Given the description of an element on the screen output the (x, y) to click on. 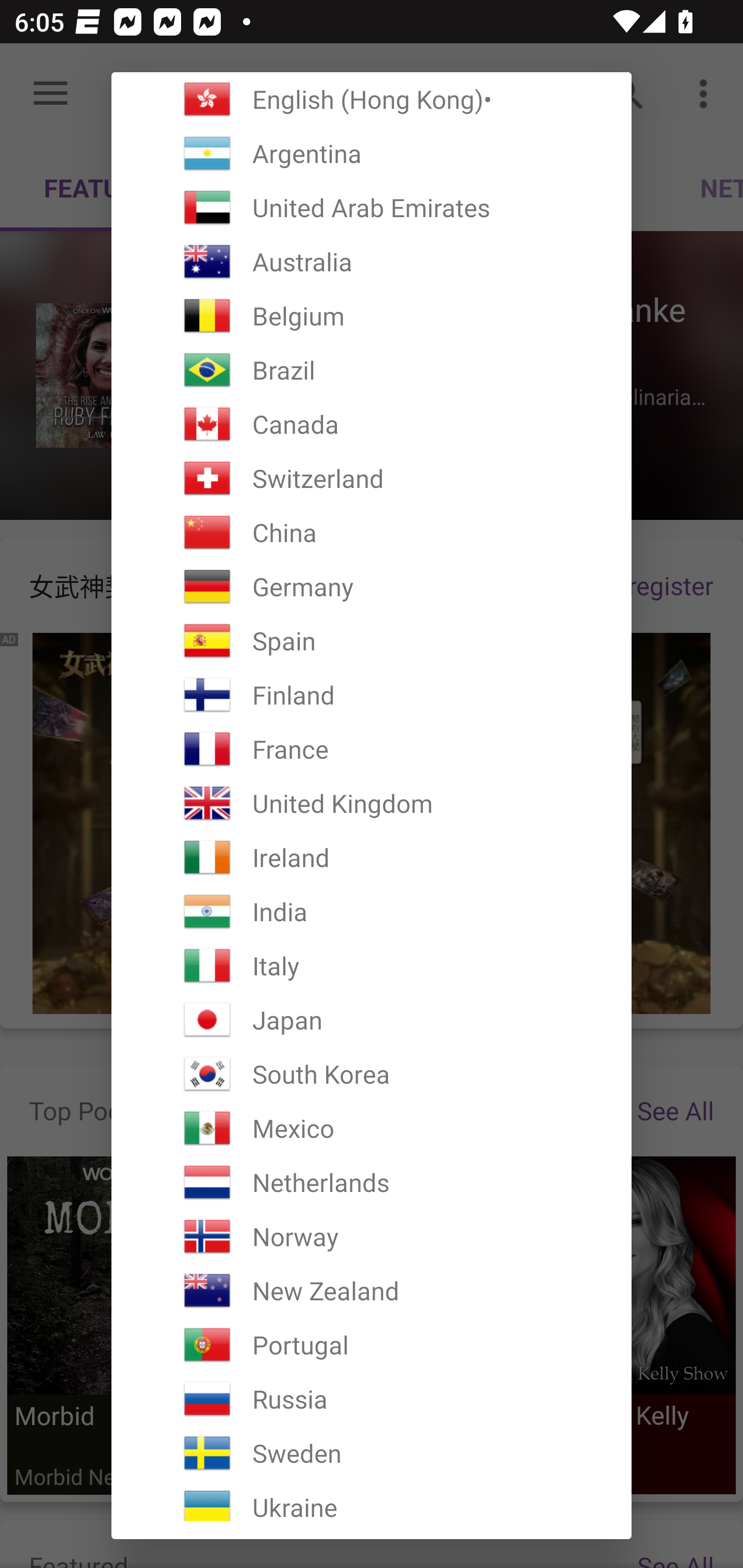
English (Hong Kong)• (371, 99)
Argentina (371, 153)
United Arab Emirates (371, 207)
Australia (371, 261)
Belgium (371, 315)
Brazil (371, 369)
Canada (371, 423)
Switzerland (371, 477)
China (371, 531)
Germany (371, 586)
Spain (371, 640)
Finland (371, 694)
France (371, 749)
United Kingdom (371, 803)
Ireland (371, 857)
India (371, 911)
Italy (371, 965)
Japan (371, 1019)
South Korea (371, 1073)
Mexico (371, 1127)
Netherlands (371, 1181)
Norway (371, 1235)
New Zealand (371, 1290)
Portugal (371, 1344)
Russia (371, 1399)
Sweden (371, 1453)
Ukraine (371, 1500)
